Given the description of an element on the screen output the (x, y) to click on. 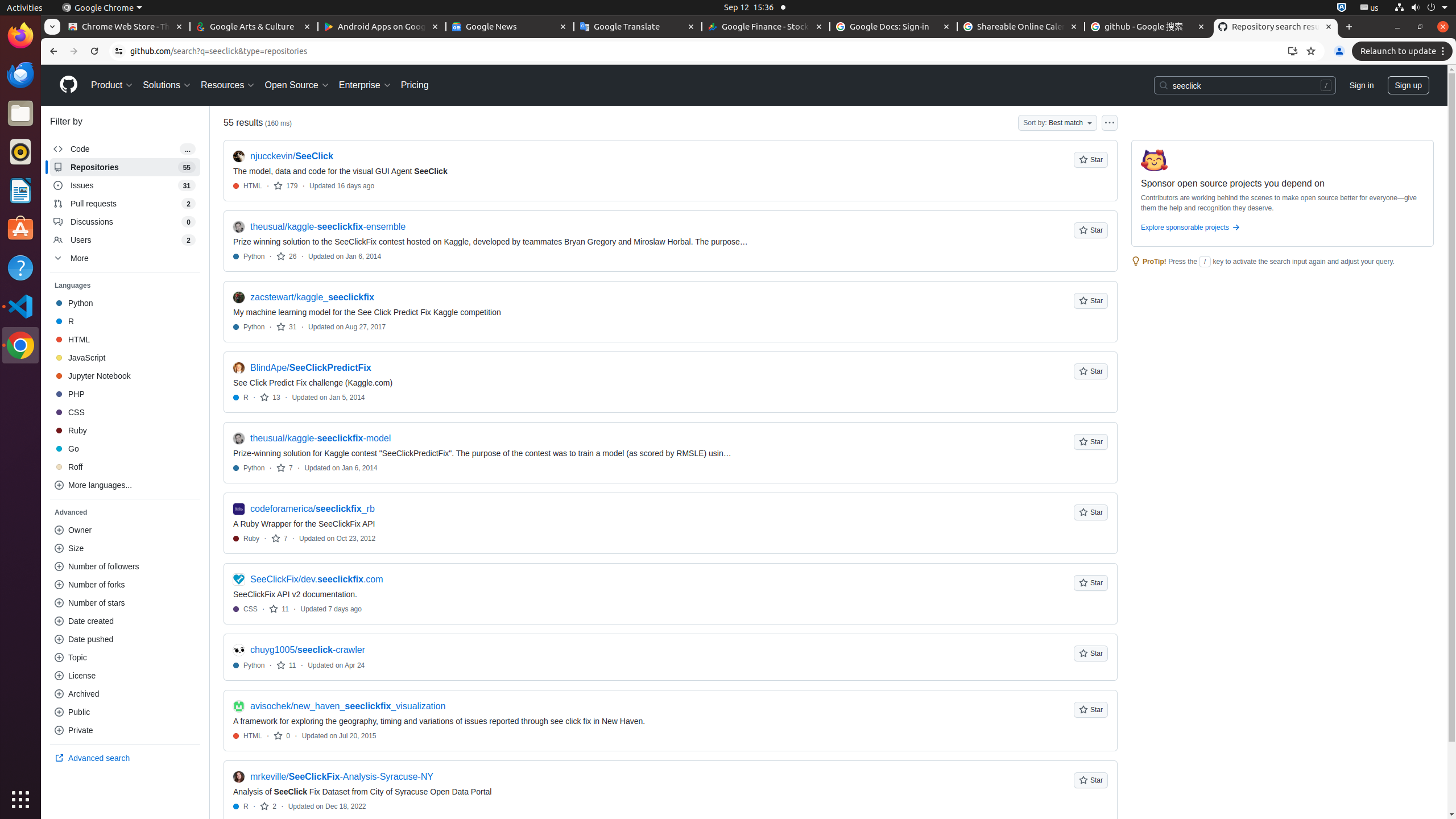
Discussions , 0 results  (0) Element type: link (125, 221)
‎JavaScript‎ Element type: link (125, 357)
‎Public‎ Element type: link (125, 711)
Firefox Web Browser Element type: push-button (20, 35)
‎Jupyter Notebook‎ Element type: link (125, 375)
